Given the description of an element on the screen output the (x, y) to click on. 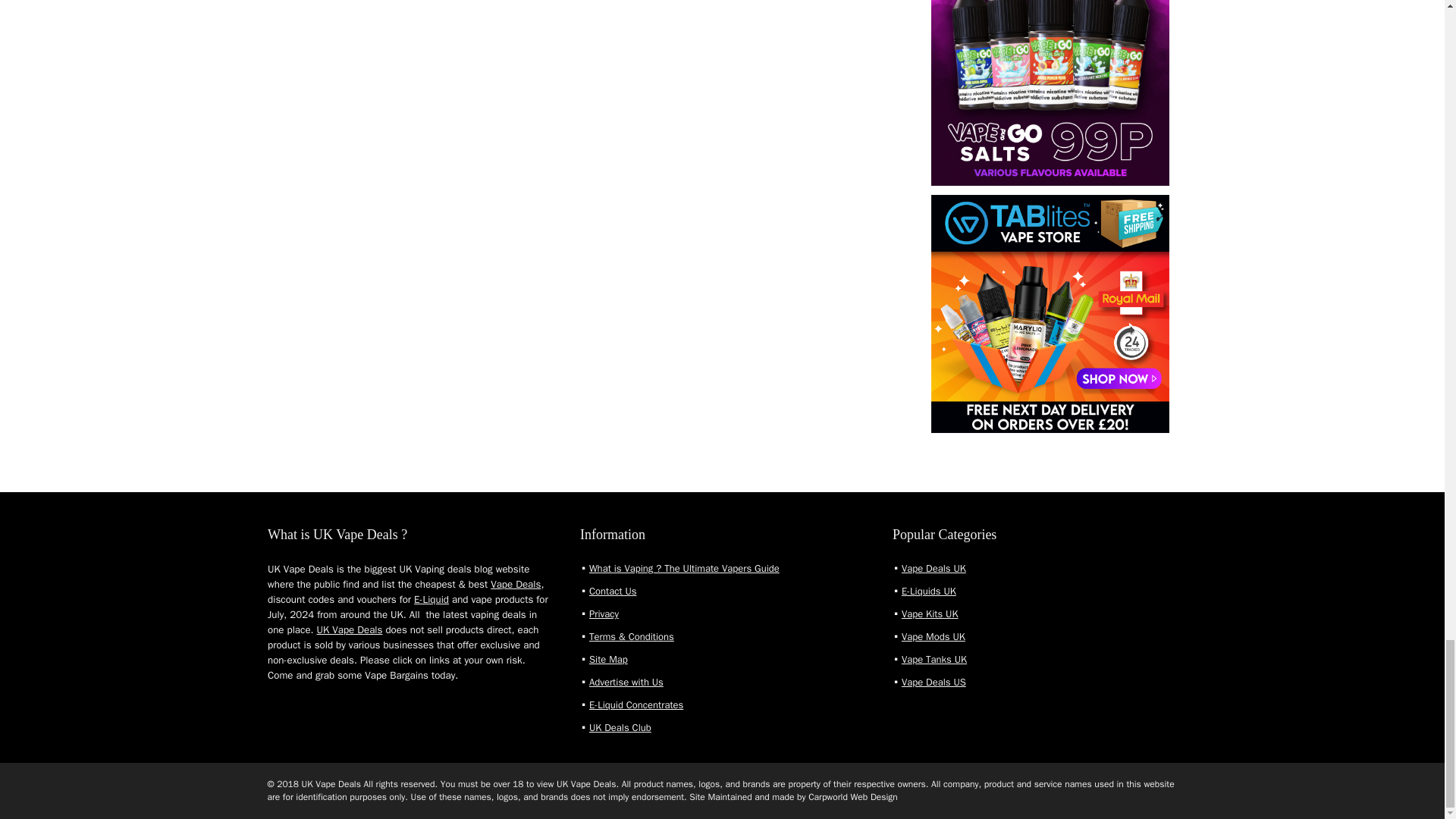
E-Liquid Concentrates UK (635, 704)
Buy E-Liquid in the UK (928, 590)
Vape Deals UK (933, 567)
